Given the description of an element on the screen output the (x, y) to click on. 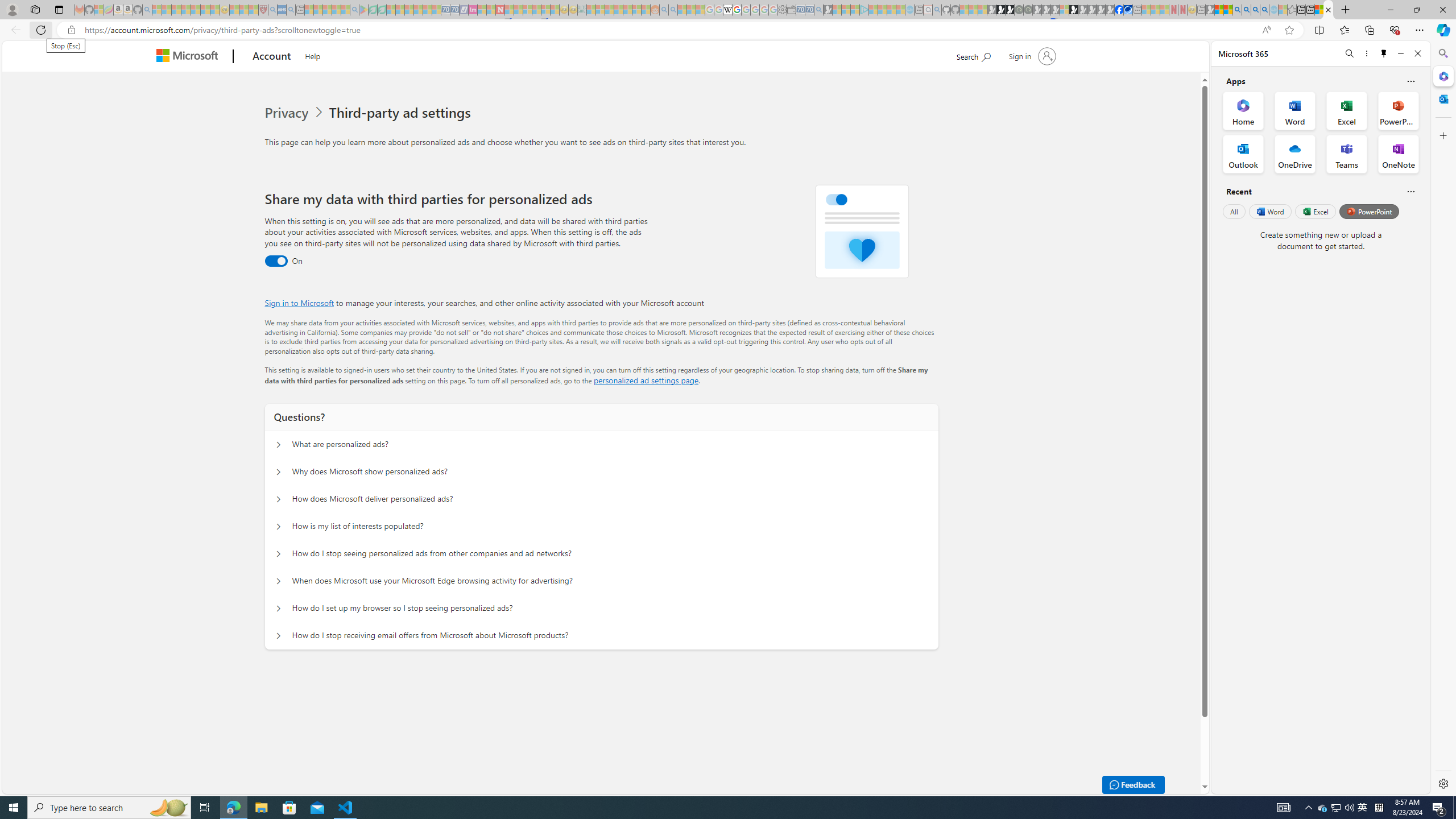
OneDrive Office App (1295, 154)
Recipes - MSN - Sleeping (234, 9)
Unpin side pane (1383, 53)
New tab - Sleeping (1200, 9)
Kinda Frugal - MSN - Sleeping (627, 9)
Microsoft (189, 56)
Wallet - Sleeping (790, 9)
